Given the description of an element on the screen output the (x, y) to click on. 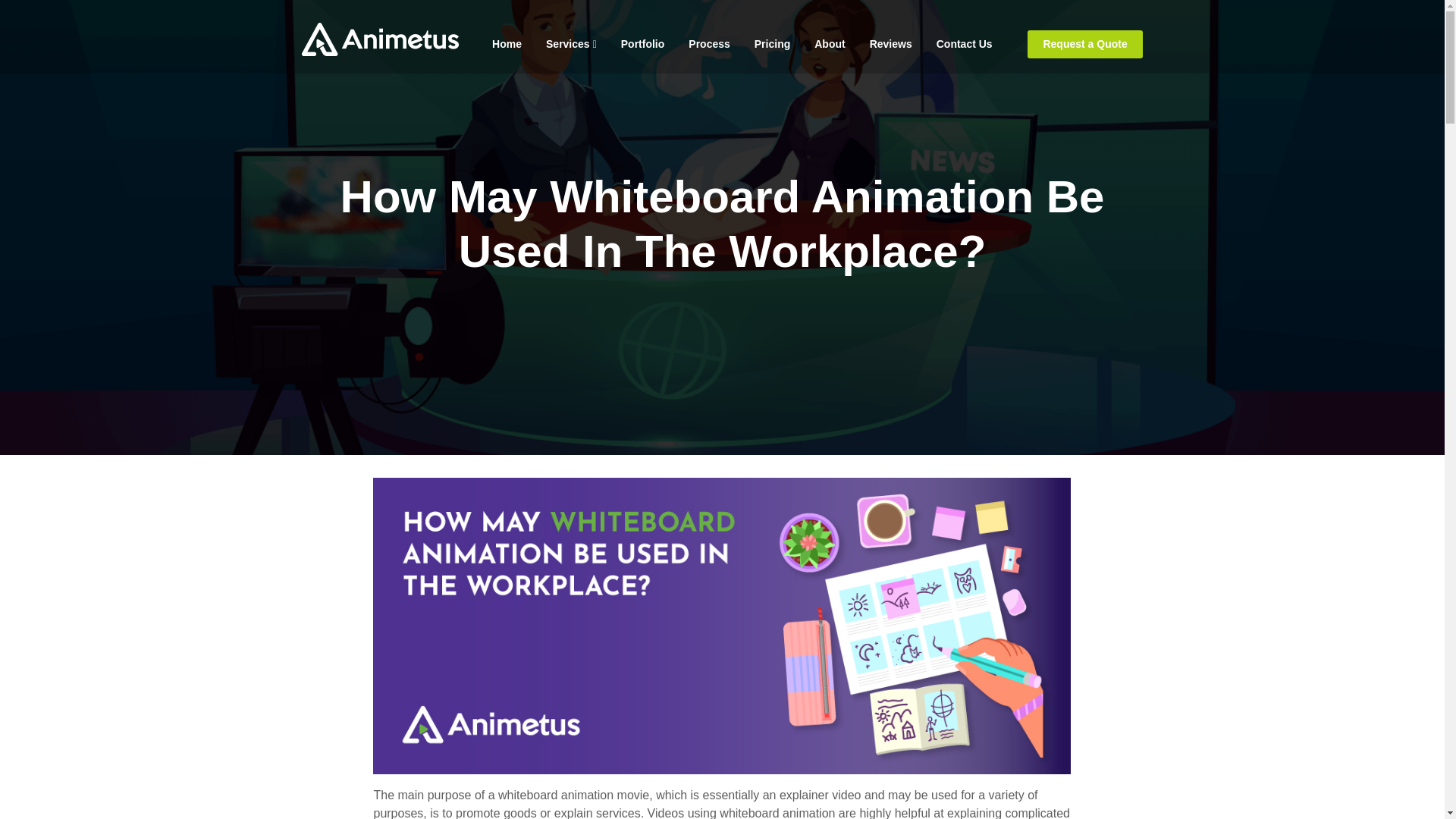
Portfolio (642, 44)
Reviews (890, 44)
About (829, 44)
Request a Quote (1084, 44)
Pricing (772, 44)
Home (507, 44)
Process (709, 44)
Contact Us (964, 44)
Services (571, 44)
